Given the description of an element on the screen output the (x, y) to click on. 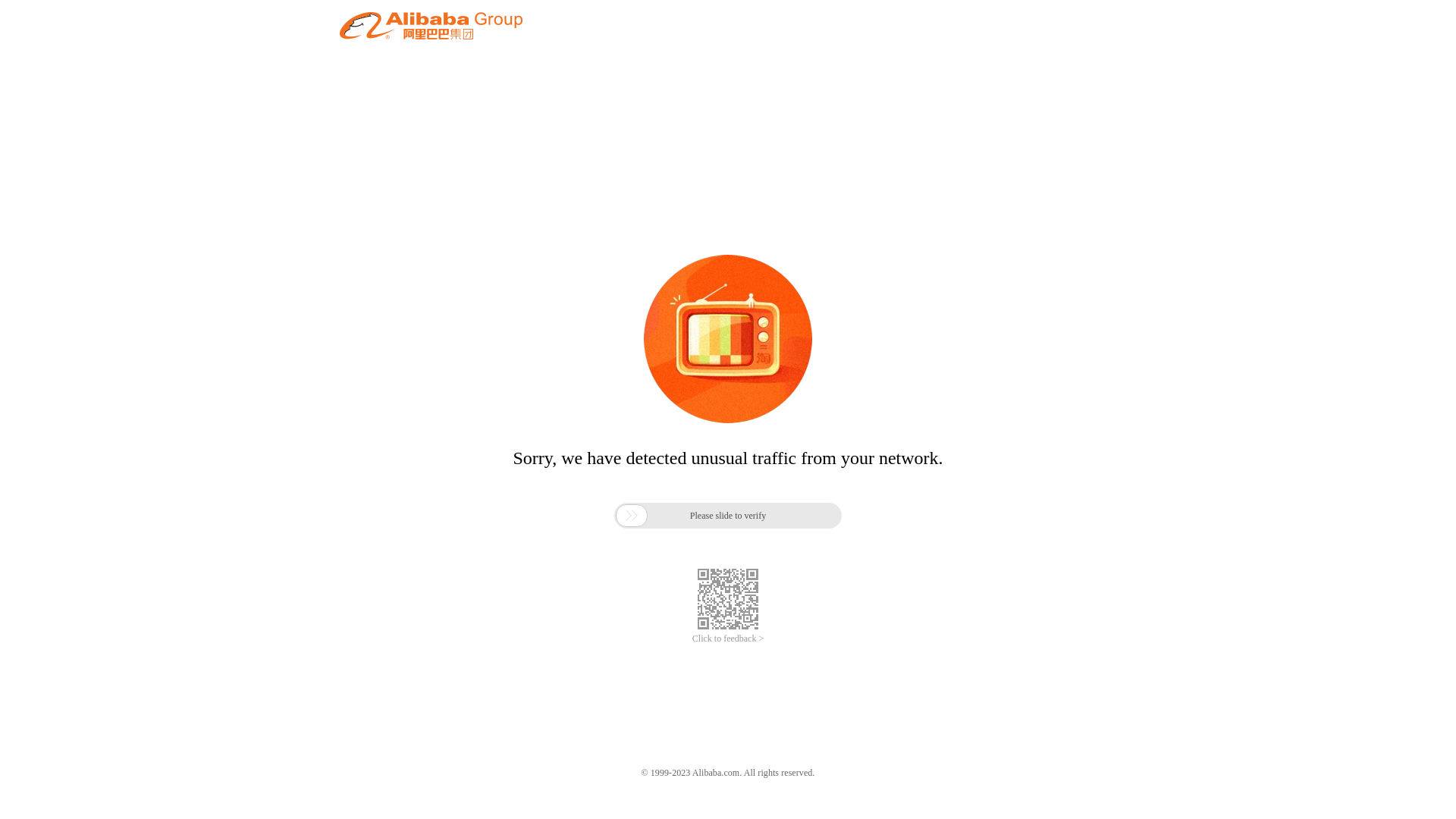
Click to feedback > Element type: text (727, 638)
